Given the description of an element on the screen output the (x, y) to click on. 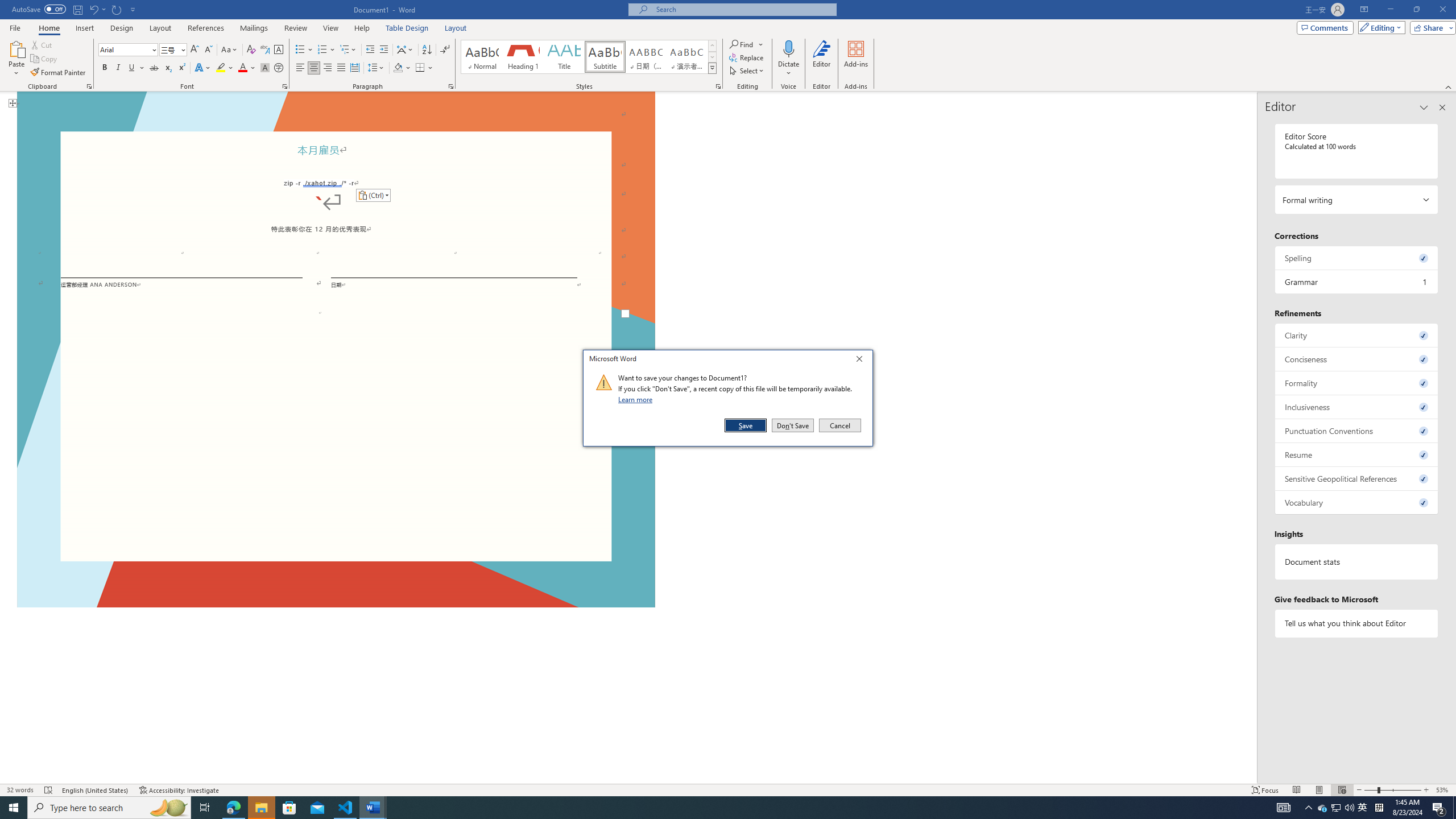
Spelling, 0 issues. Press space or enter to review items. (1356, 257)
Clarity, 0 issues. Press space or enter to review items. (1356, 335)
Vocabulary, 0 issues. Press space or enter to review items. (1356, 502)
Formality, 0 issues. Press space or enter to review items. (1356, 382)
